Given the description of an element on the screen output the (x, y) to click on. 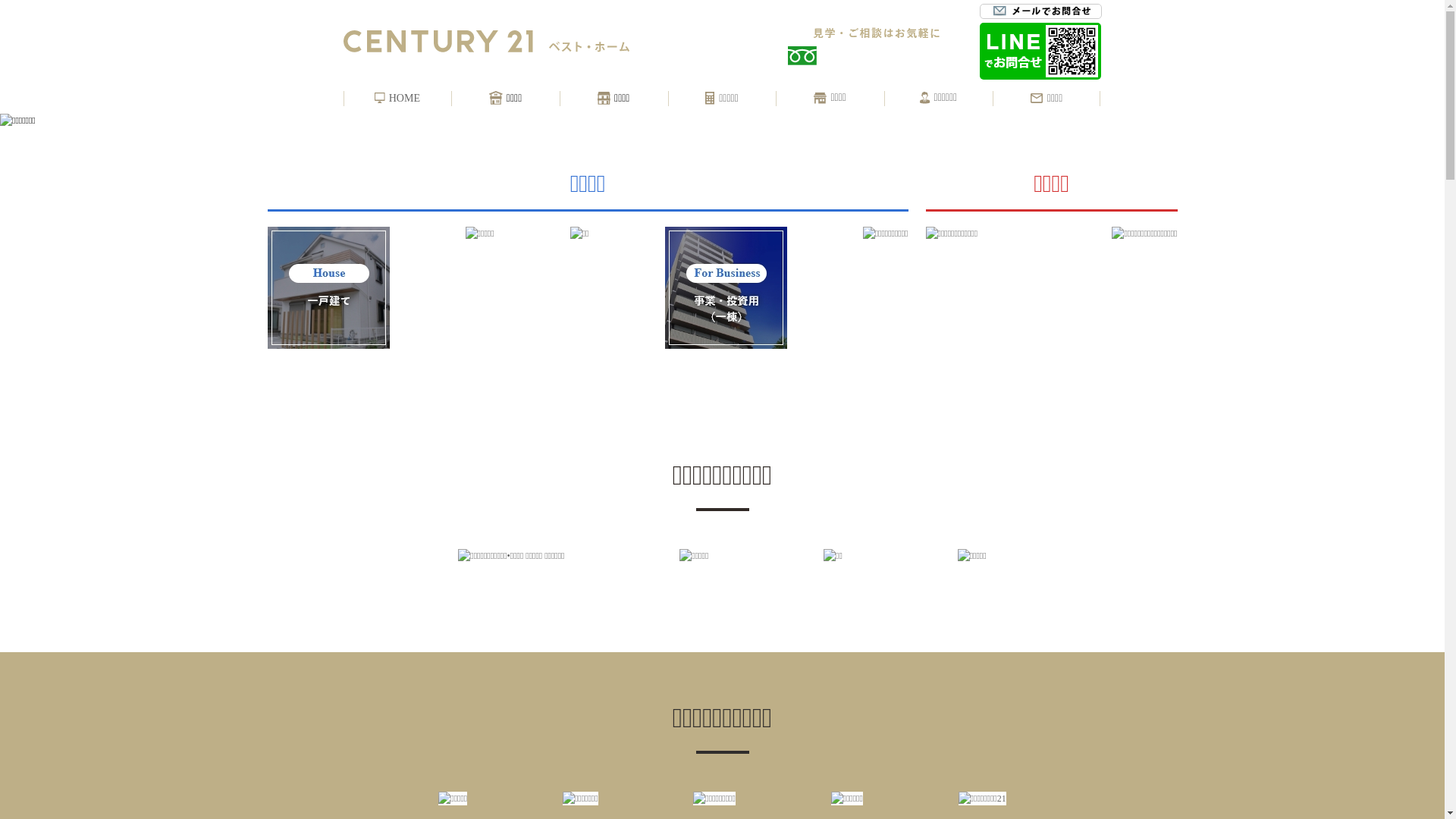
HOME Element type: text (397, 98)
